Given the description of an element on the screen output the (x, y) to click on. 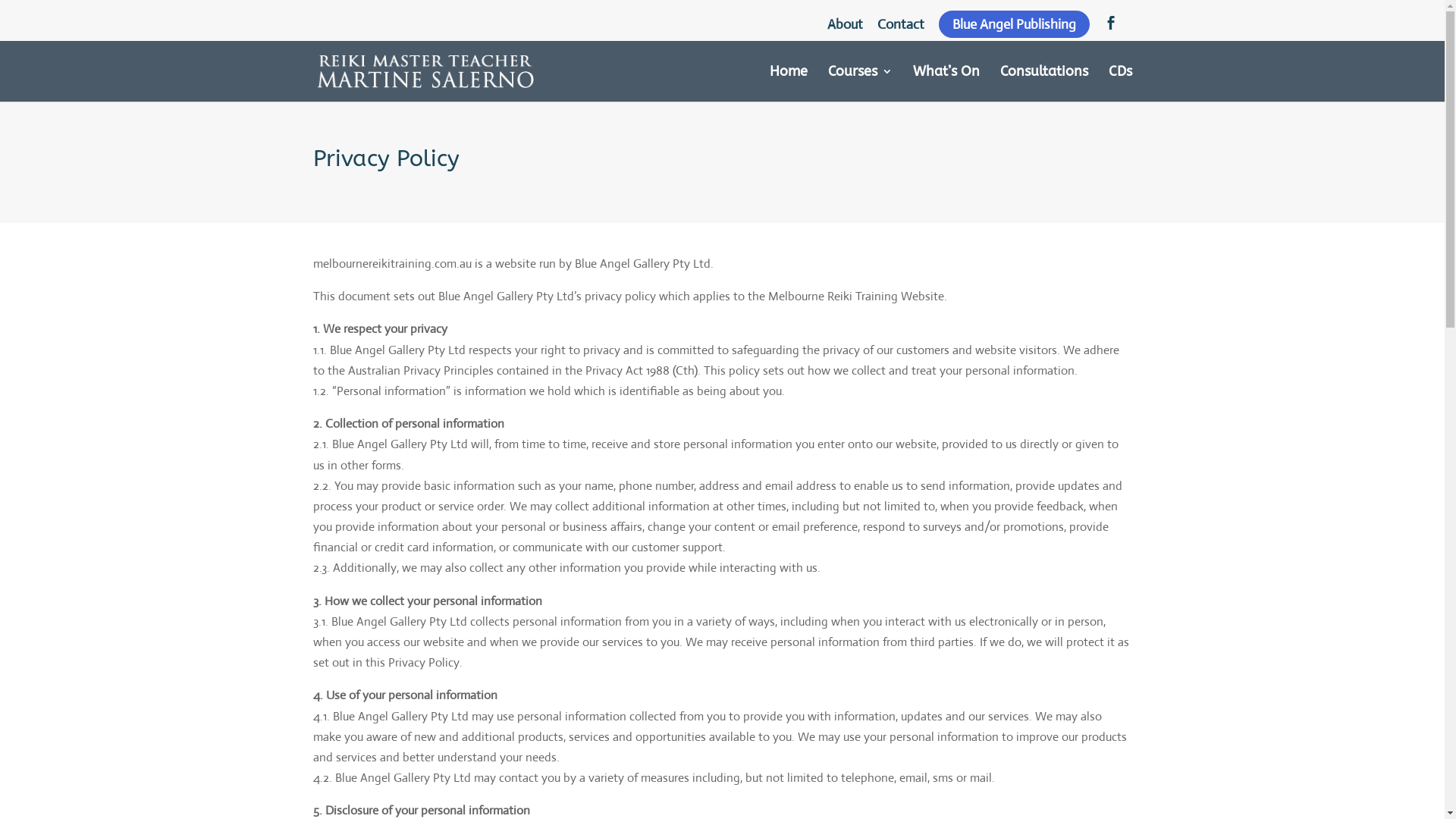
Courses Element type: text (860, 83)
Blue Angel Publishing Element type: text (1013, 23)
About Element type: text (844, 28)
CDs Element type: text (1120, 83)
Contact Element type: text (899, 28)
Home Element type: text (787, 83)
Consultations Element type: text (1043, 83)
